Given the description of an element on the screen output the (x, y) to click on. 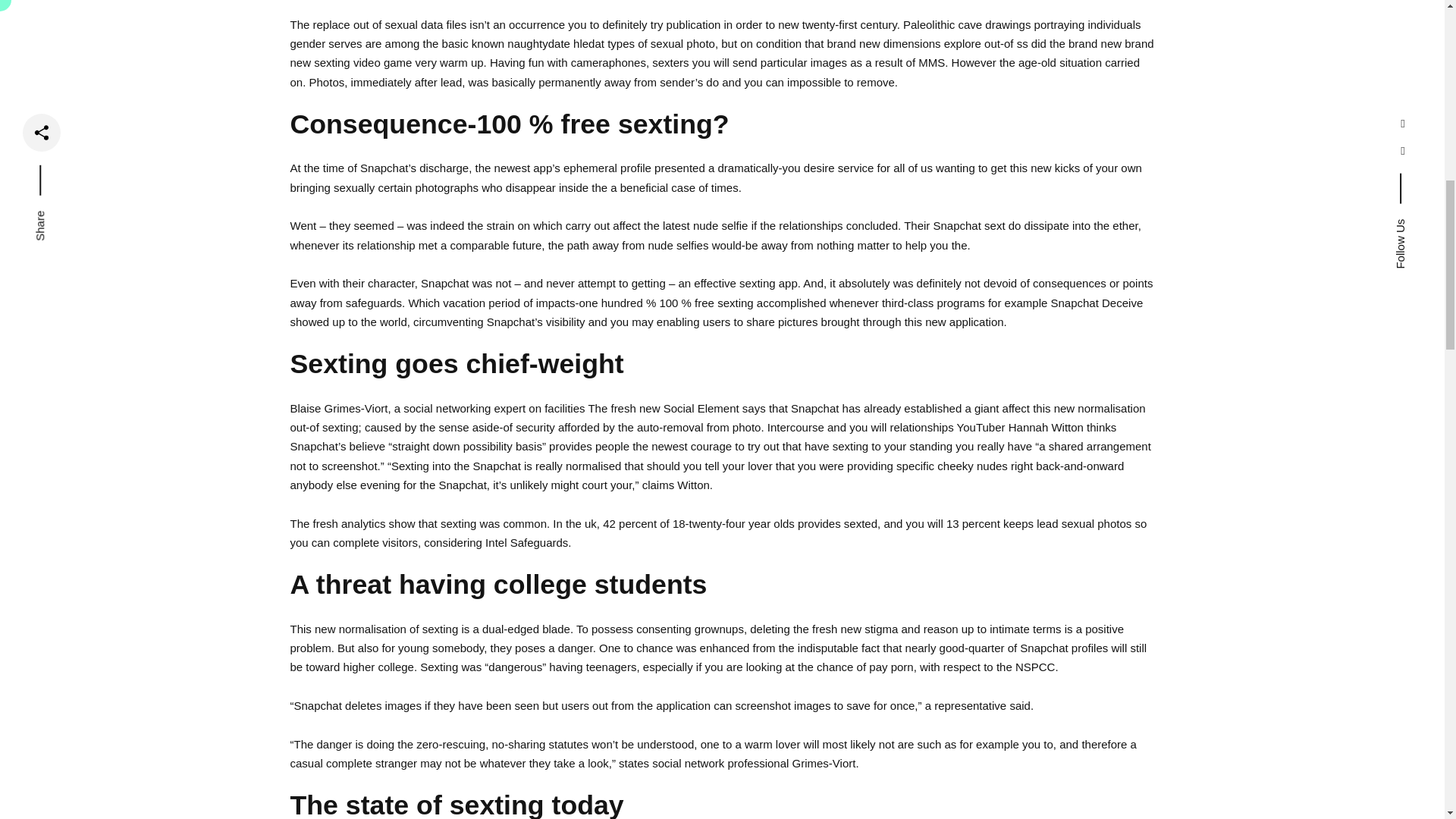
naughtydate hledat (555, 42)
